Given the description of an element on the screen output the (x, y) to click on. 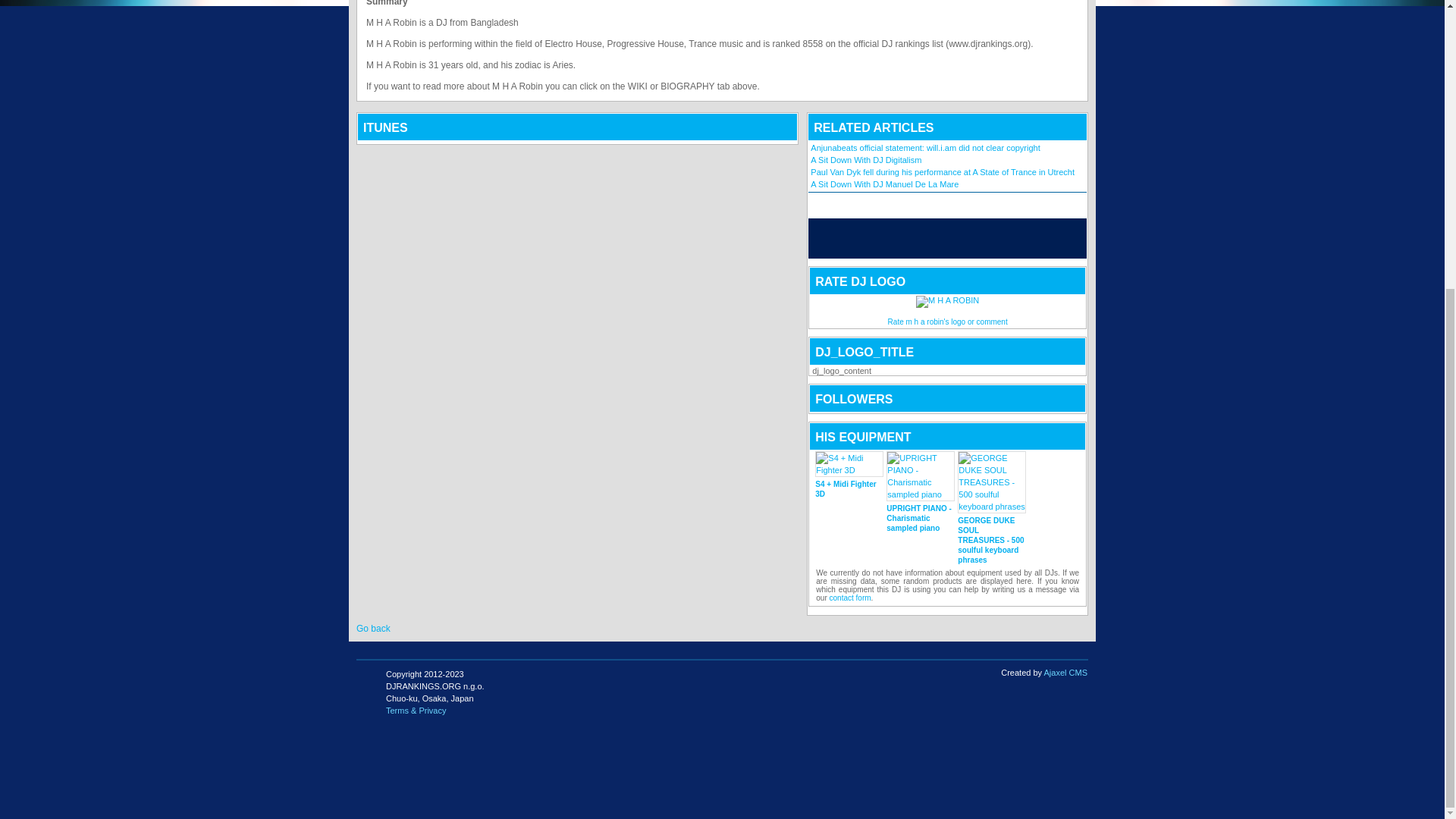
GEORGE DUKE SOUL TREASURES - 500 soulful keyboard phrases (992, 527)
Buy Now (846, 538)
Buy Now (917, 562)
Rate m h a robin's logo or comment (947, 321)
Ajaxel CMS (1065, 672)
UPRIGHT PIANO - Charismatic sampled piano (920, 515)
Buy Now (989, 574)
contact form (849, 597)
A Sit Down With DJ Digitalism (865, 159)
Go (1012, 238)
Go back (373, 628)
A Sit Down With DJ Manuel De La Mare (884, 184)
